Given the description of an element on the screen output the (x, y) to click on. 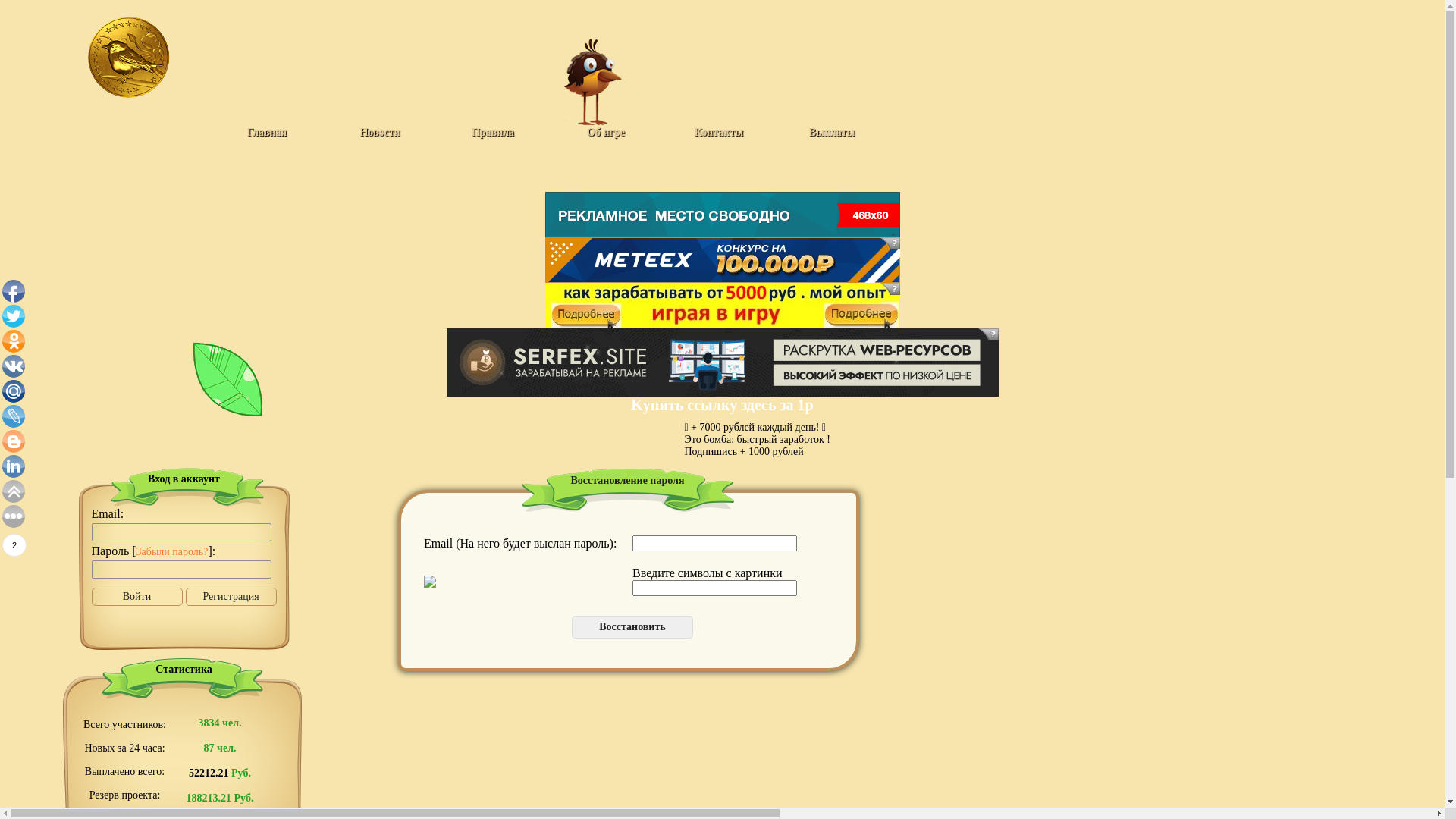
52212.21 Element type: text (208, 772)
